Given the description of an element on the screen output the (x, y) to click on. 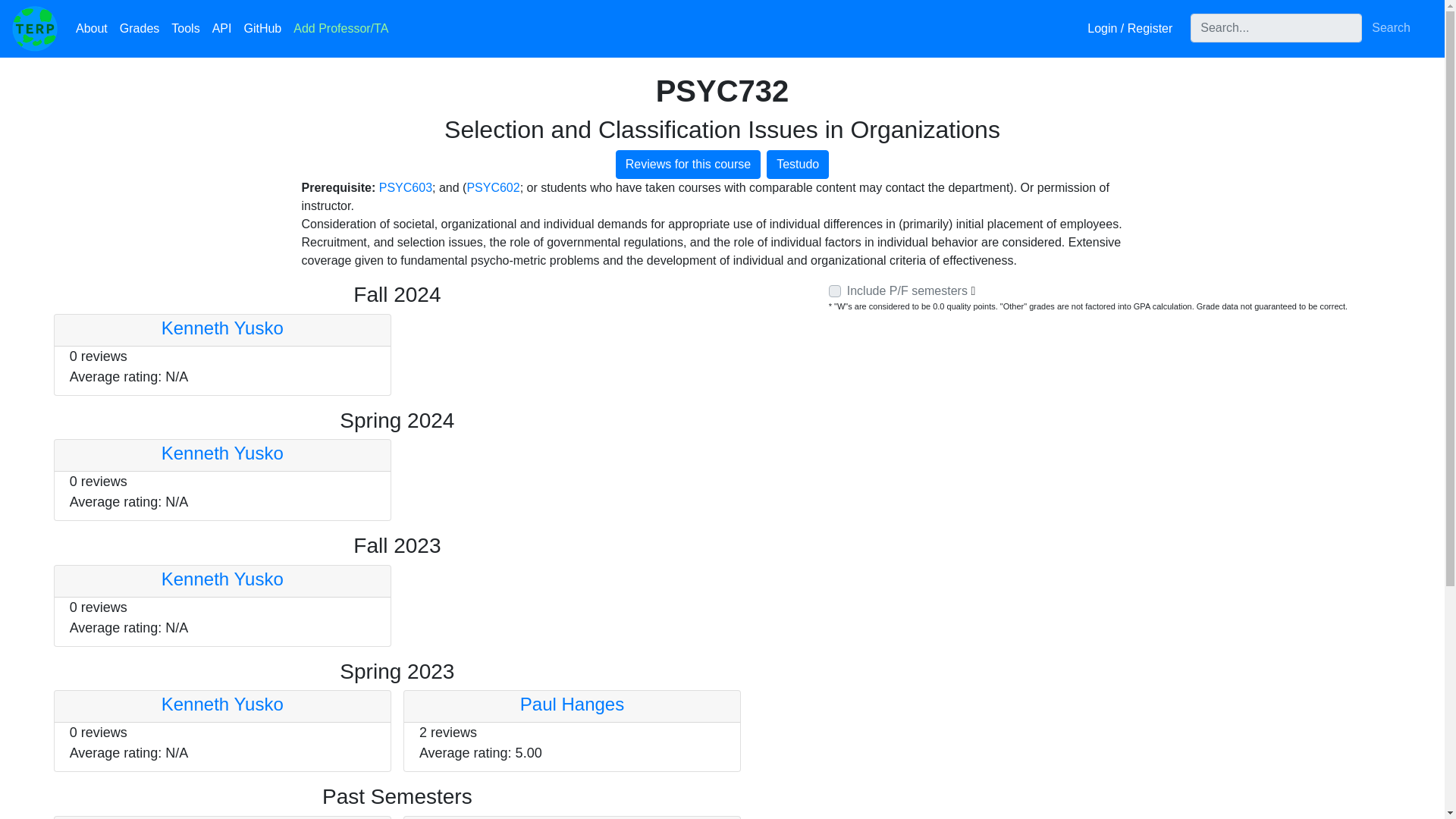
Testudo (797, 164)
Kenneth Yusko (222, 578)
About (91, 28)
Tools (185, 28)
Paul Hanges (571, 703)
Kenneth Yusko (222, 327)
Kenneth Yusko (222, 453)
PSYC602 (492, 187)
API (222, 28)
Search (1391, 27)
Home (34, 28)
Reviews for this course (687, 164)
Tools (185, 28)
PSYC603 (405, 187)
API (222, 28)
